Given the description of an element on the screen output the (x, y) to click on. 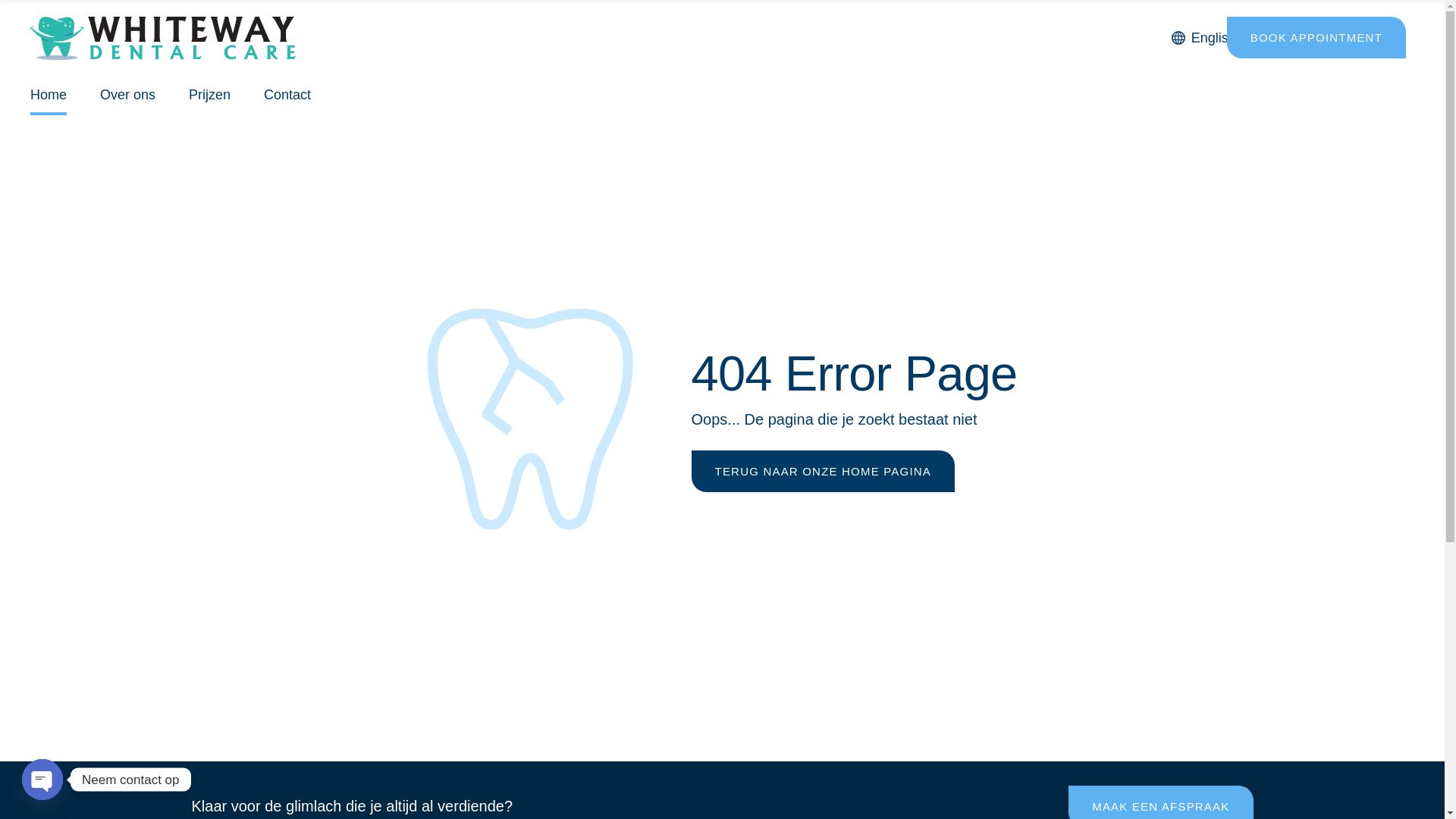
Home (48, 95)
Prijzen (209, 95)
Over ons (127, 95)
TERUG NAAR ONZE HOME PAGINA (823, 471)
BOOK APPOINTMENT (1316, 37)
English (1211, 36)
MAAK EEN AFSPRAAK (1160, 802)
Contact (287, 95)
